Given the description of an element on the screen output the (x, y) to click on. 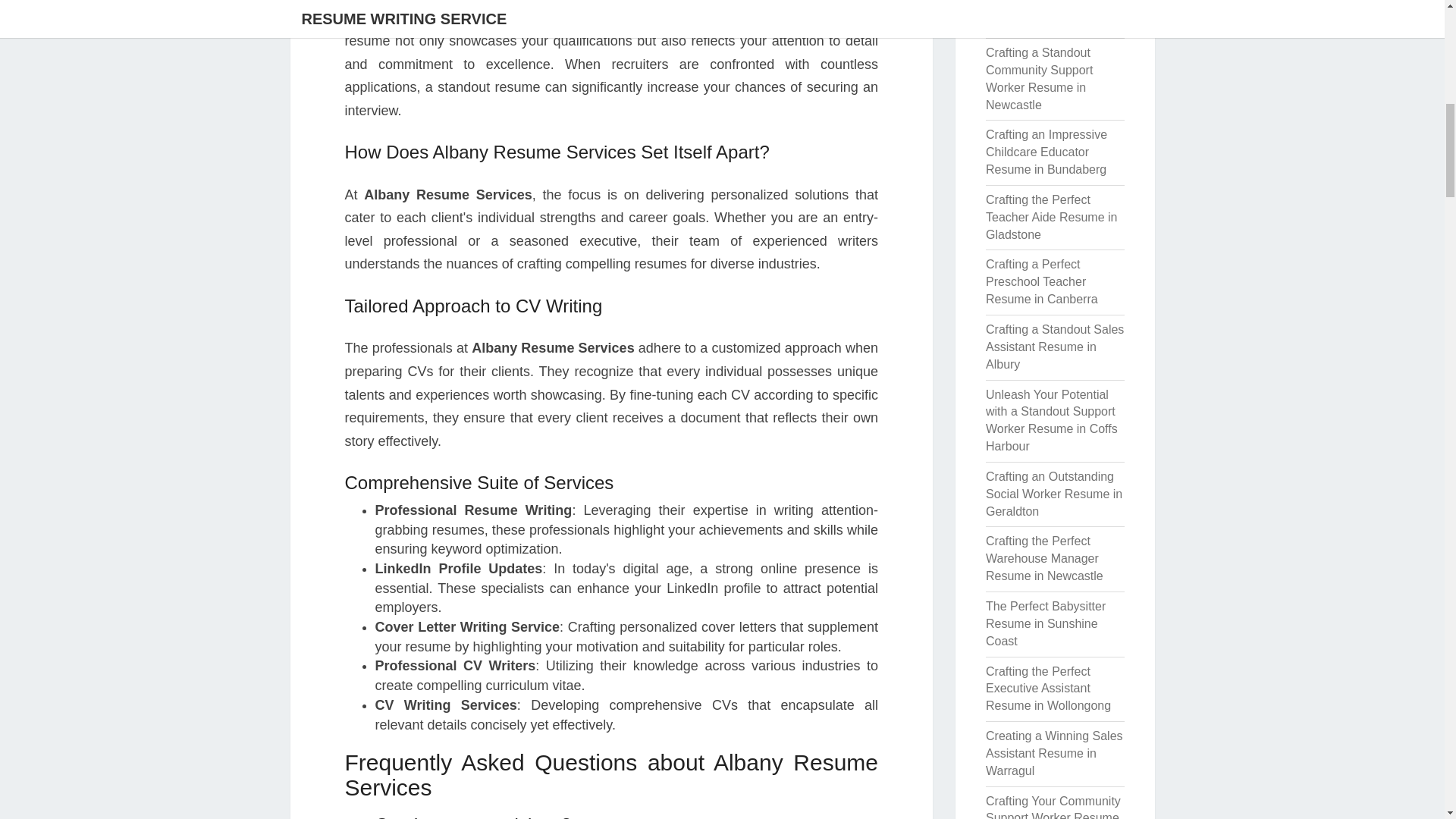
Crafting the Perfect Teacher Aide Resume in Gladstone (1050, 216)
Crafting Your Community Support Worker Resume in Bowral (1053, 806)
The Perfect Babysitter Resume in Sunshine Coast (1045, 623)
Creating a Winning Sales Assistant Resume in Warragul (1053, 753)
Crafting a Perfect Preschool Teacher Resume in Canberra (1041, 281)
Crafting the Perfect Warehouse Manager Resume in Newcastle (1044, 558)
Crafting an Outstanding Social Worker Resume in Geraldton (1053, 493)
Crafting a Standout Sales Assistant Resume in Albury (1054, 346)
